Given the description of an element on the screen output the (x, y) to click on. 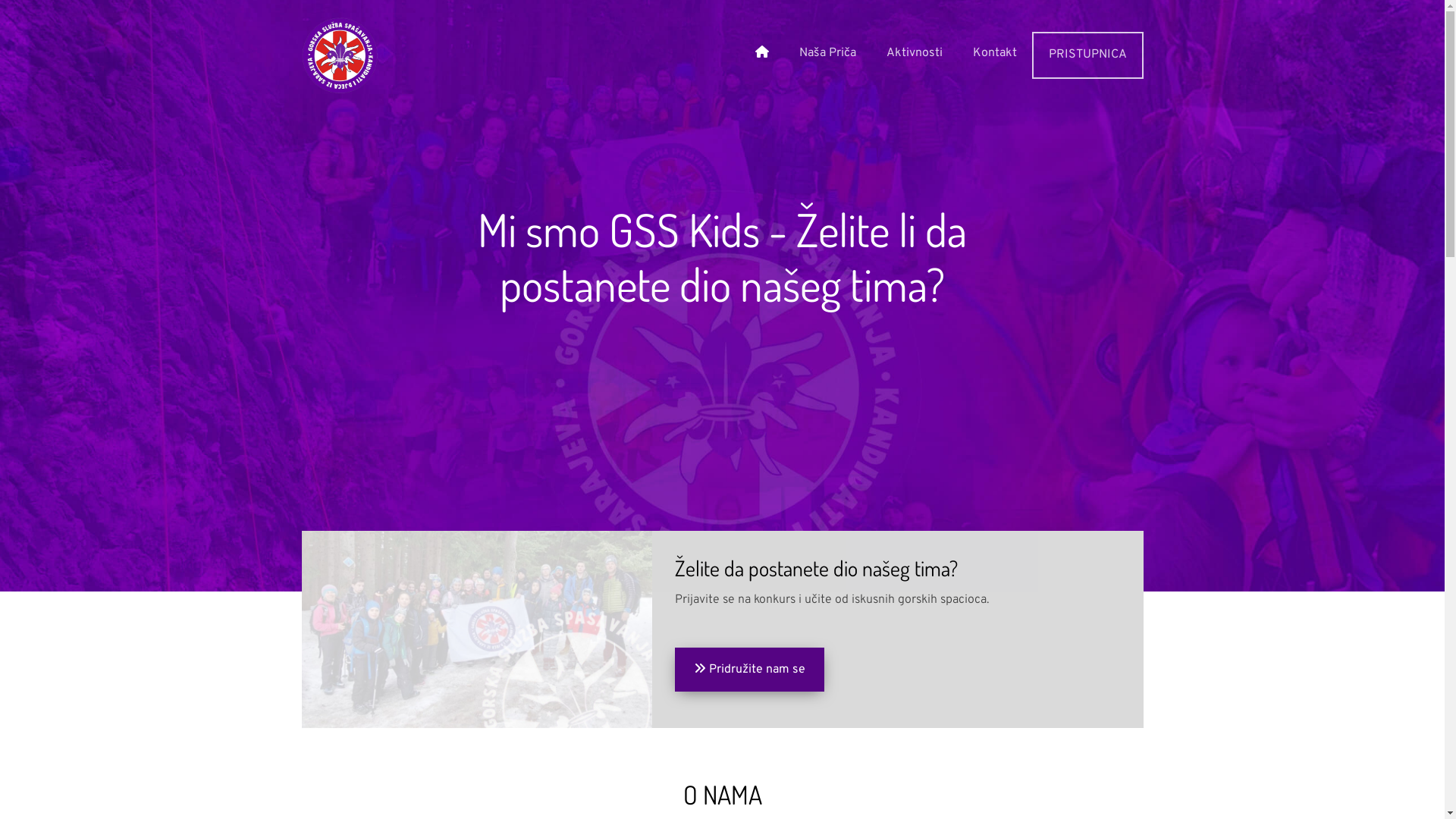
PRISTUPNICA Element type: text (1086, 54)
Kontakt Element type: text (994, 53)
Aktivnosti Element type: text (913, 53)
